Given the description of an element on the screen output the (x, y) to click on. 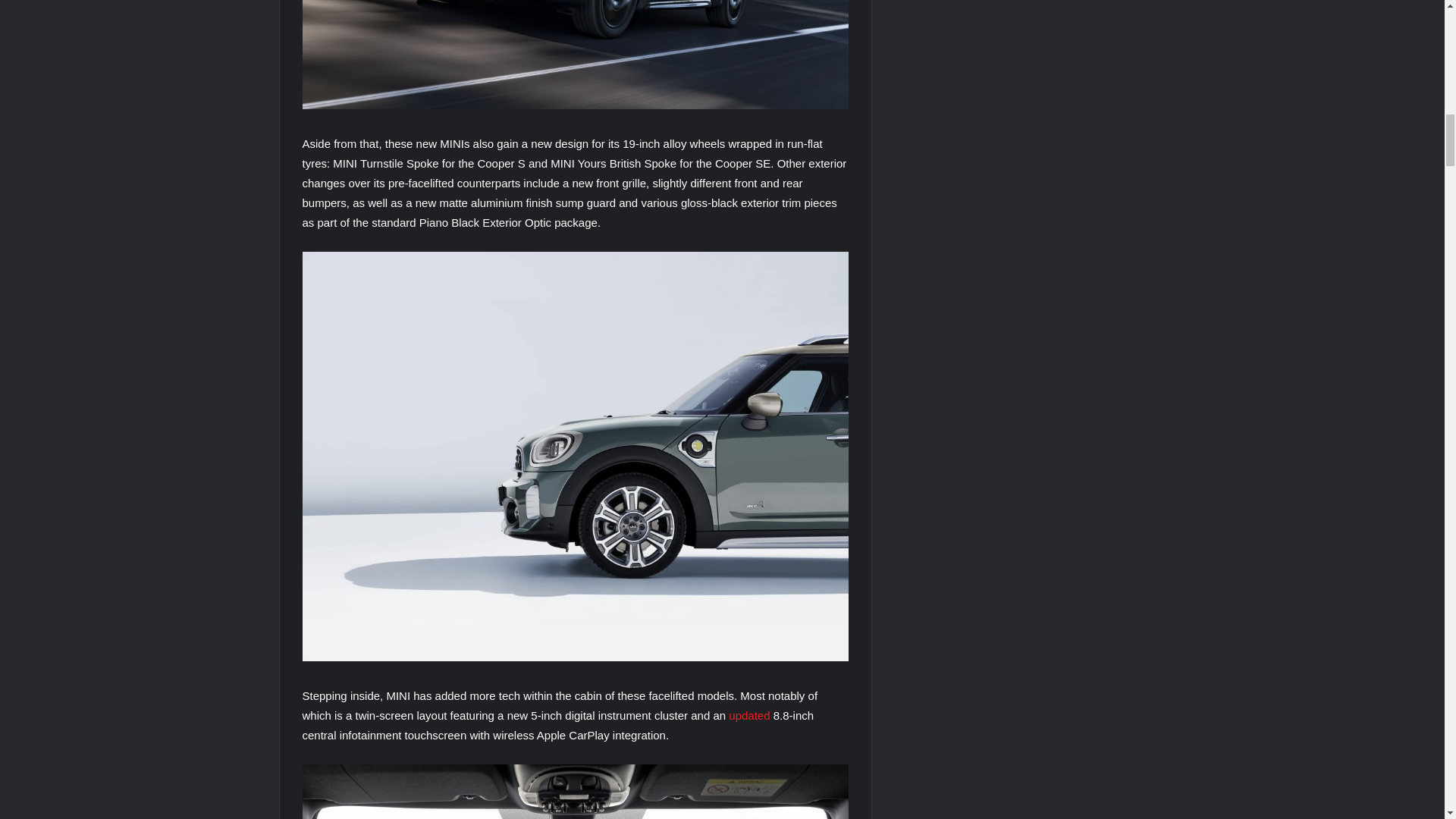
updated (749, 715)
